Given the description of an element on the screen output the (x, y) to click on. 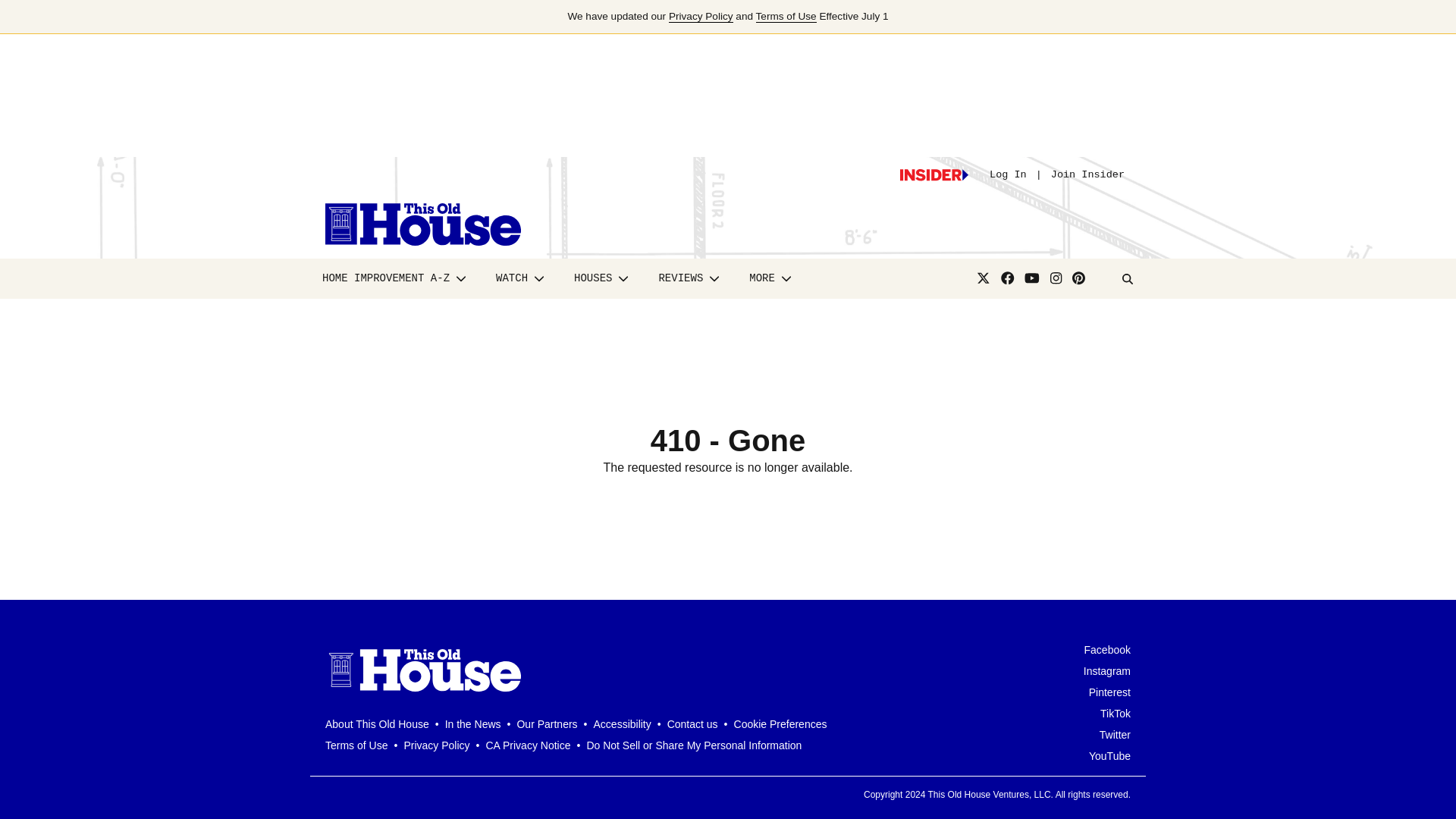
Privacy Policy (700, 16)
Log In (1008, 174)
Terms of Use (785, 16)
Log in or sign up (933, 174)
Join Insider (1087, 174)
